Given the description of an element on the screen output the (x, y) to click on. 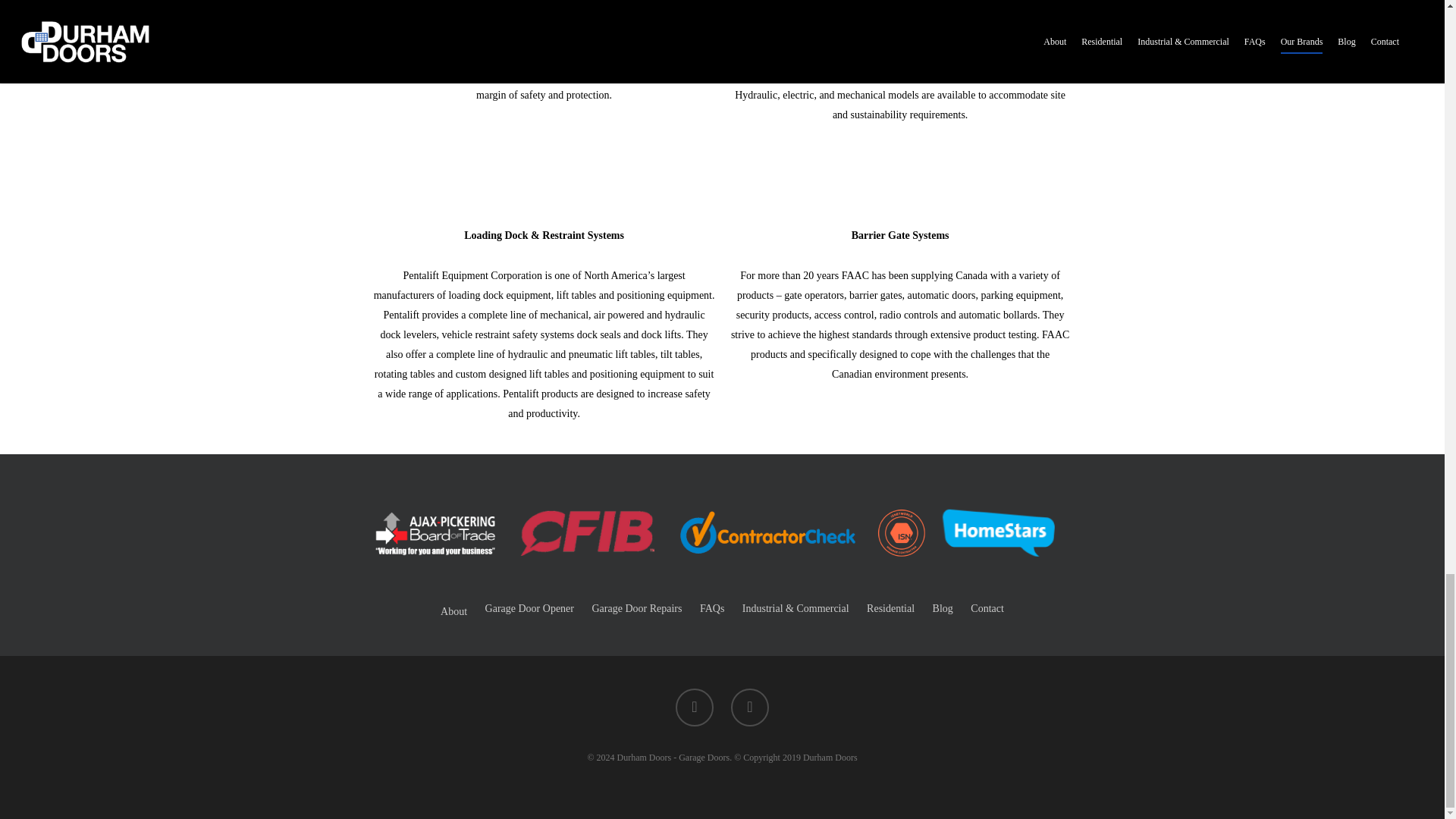
Residential (890, 608)
FAQs (711, 608)
Garage Door Opener (528, 608)
Blog (943, 608)
Contact (987, 608)
Garage Door Repairs (636, 608)
About (454, 611)
